Given the description of an element on the screen output the (x, y) to click on. 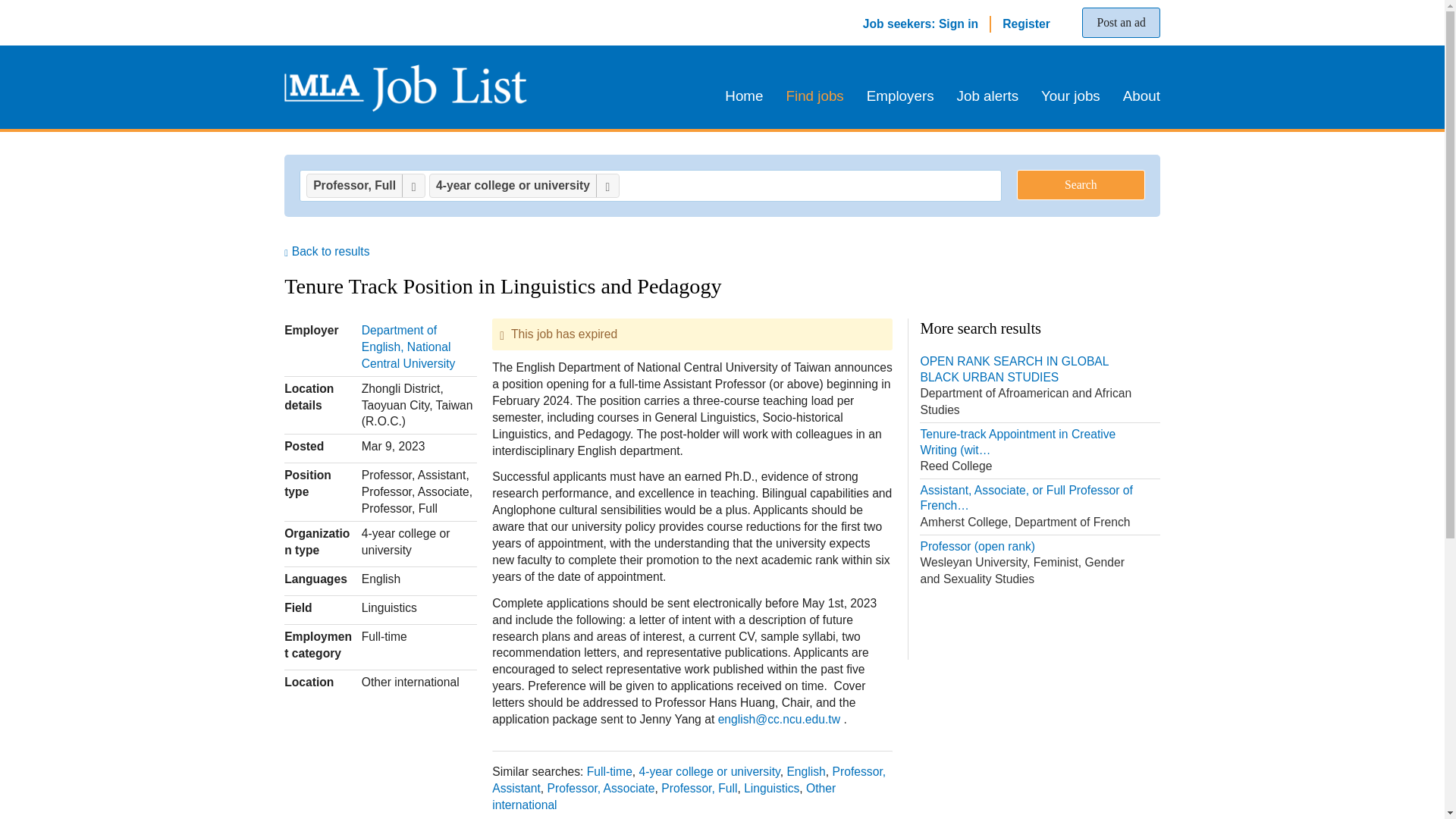
OPEN RANK SEARCH IN GLOBAL BLACK URBAN STUDIES (1039, 386)
English (805, 771)
Employers (900, 95)
Job alerts (987, 95)
Find jobs (814, 95)
Job seekers: Sign in (920, 23)
About (1136, 95)
Other international (663, 796)
Search (1080, 184)
Linguistics (771, 788)
Post an ad (1119, 22)
Back to results (326, 250)
Full-time (608, 771)
Professor, Assistant (688, 779)
